Given the description of an element on the screen output the (x, y) to click on. 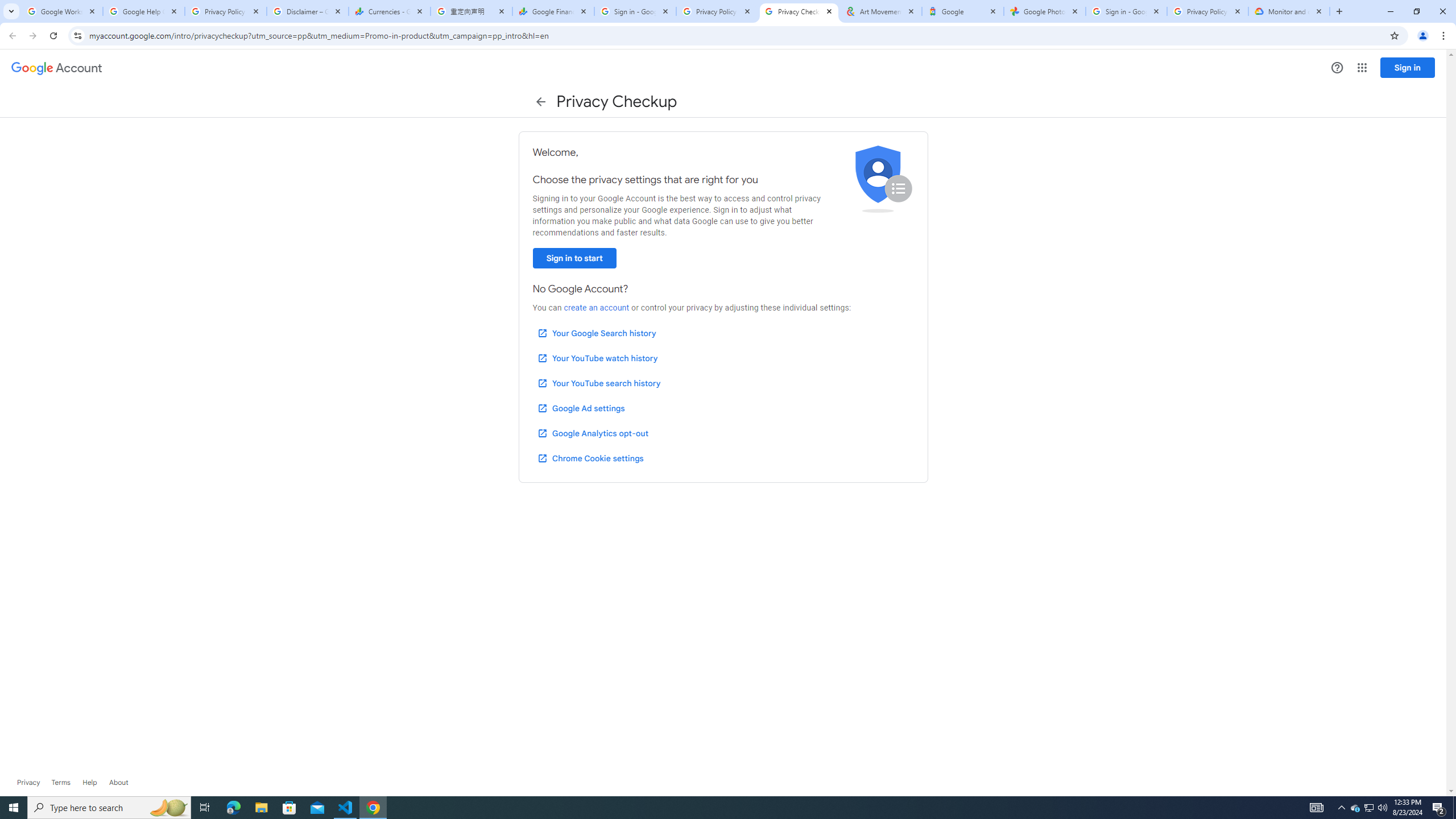
Privacy Checkup (798, 11)
Google Account settings (56, 68)
Chrome Cookie settings (589, 457)
Learn more about Google Account (118, 782)
Your YouTube search history (598, 383)
Google Workspace Admin Community (61, 11)
